Given the description of an element on the screen output the (x, y) to click on. 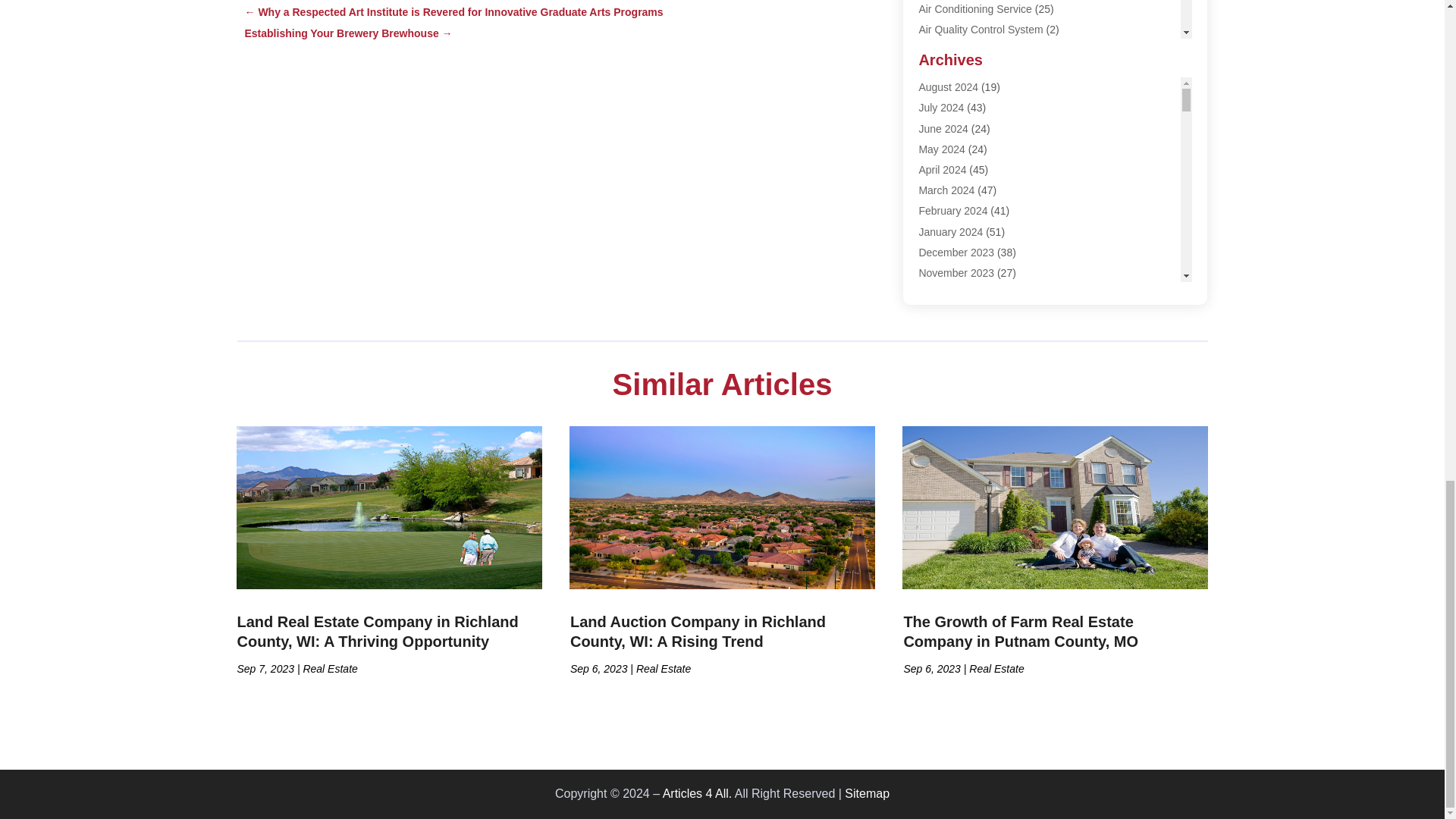
Air Conditioning Service (974, 9)
Animal Removal (956, 111)
Air Quality Control System (980, 29)
Aluminum Supplier (962, 70)
Aluminum (941, 50)
Ambulance Service (964, 91)
